Given the description of an element on the screen output the (x, y) to click on. 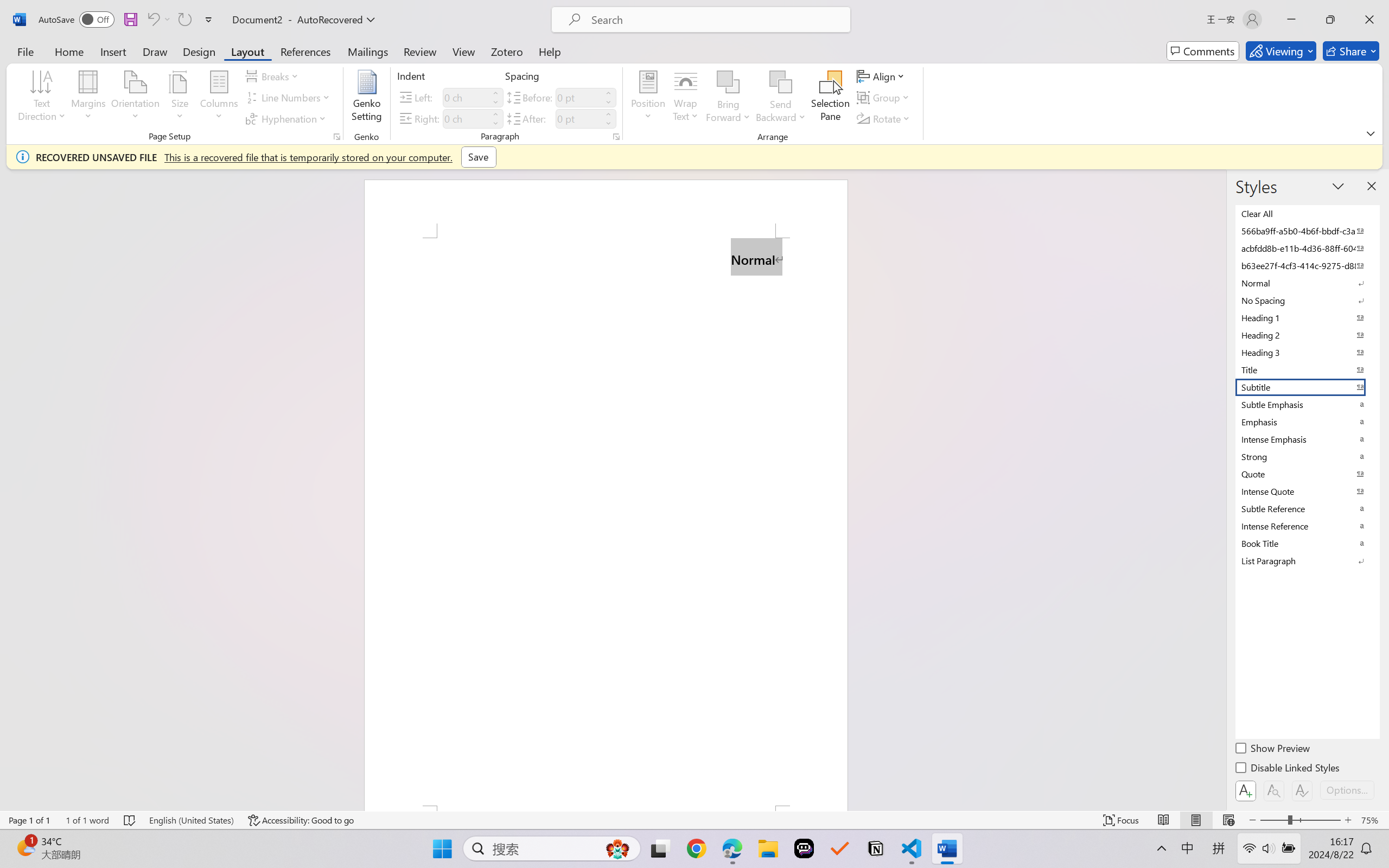
Size (180, 97)
Ribbon Display Options (1370, 132)
Heading 3 (1306, 352)
Page Setup... (336, 136)
Indent Left (465, 96)
Less (608, 123)
Spacing Before (578, 96)
Help (549, 51)
Breaks (273, 75)
Can't Undo (158, 19)
Book Title (1306, 543)
